Given the description of an element on the screen output the (x, y) to click on. 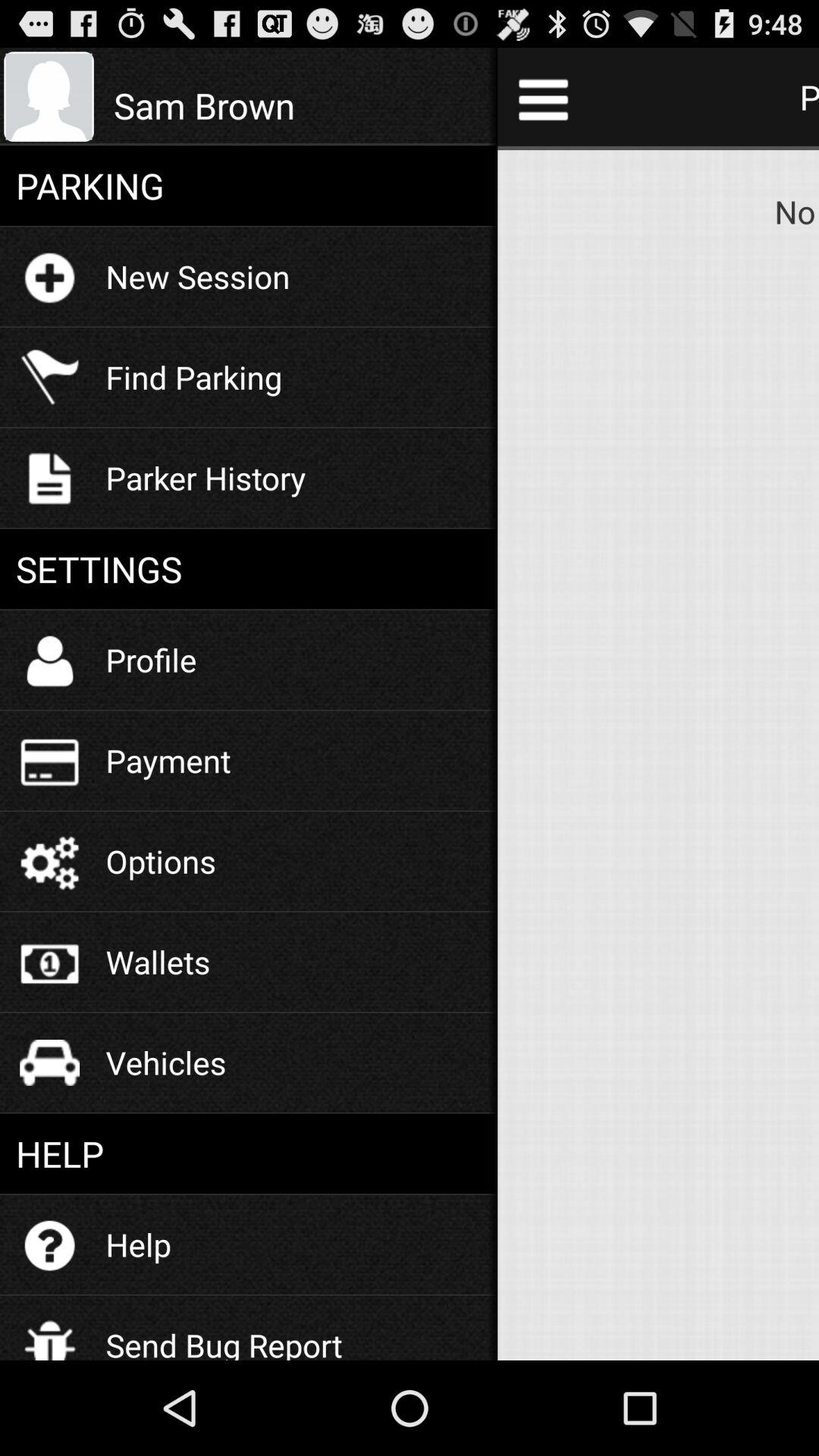
press the icon to the right of the sam
brown icon (543, 98)
